Given the description of an element on the screen output the (x, y) to click on. 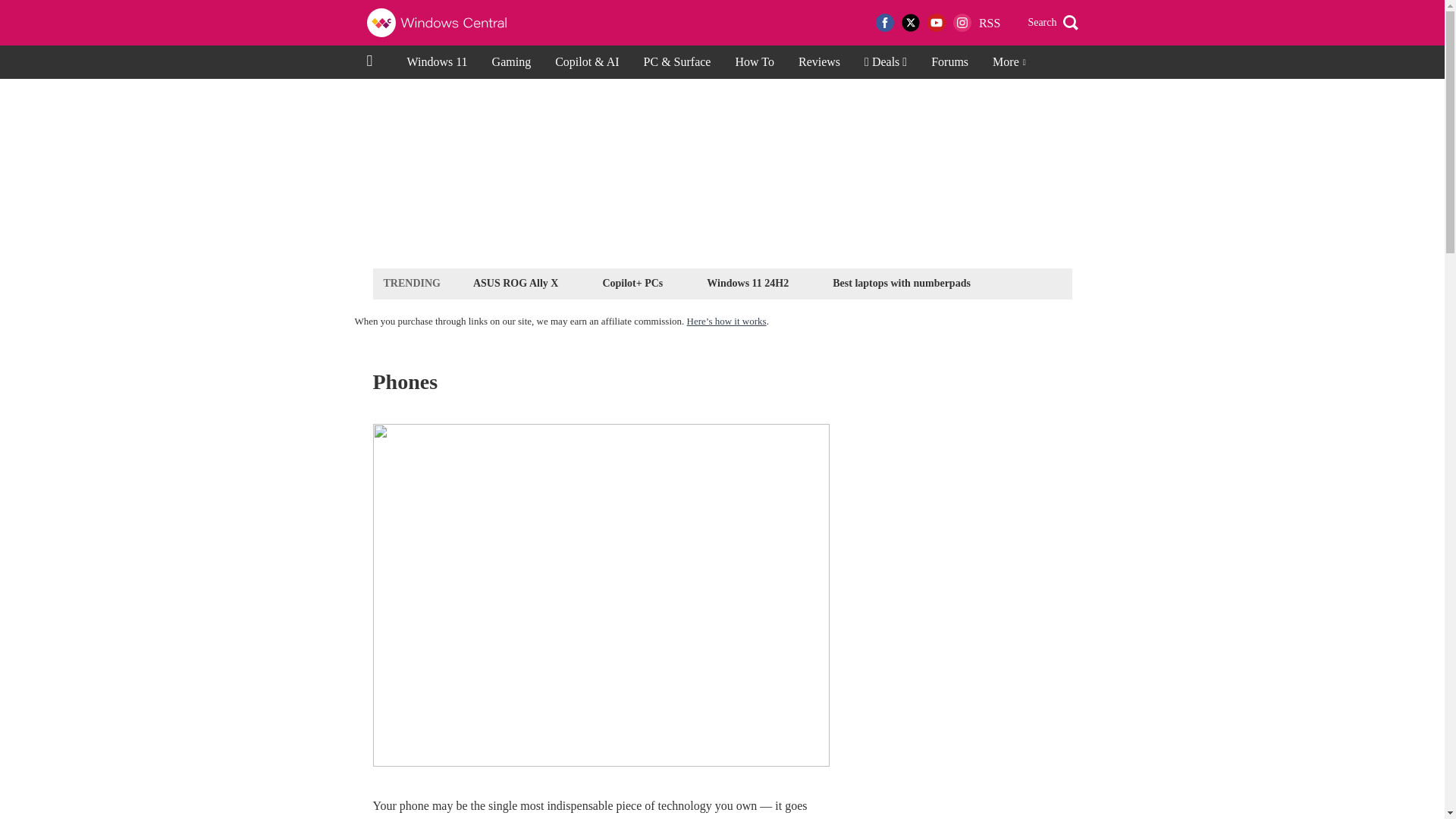
Forums (948, 61)
Reviews (818, 61)
Windows 11 24H2 (747, 282)
Best laptops with numberpads (901, 282)
How To (754, 61)
Windows 11 (436, 61)
RSS (989, 22)
ASUS ROG Ally X (515, 282)
Gaming (511, 61)
